Given the description of an element on the screen output the (x, y) to click on. 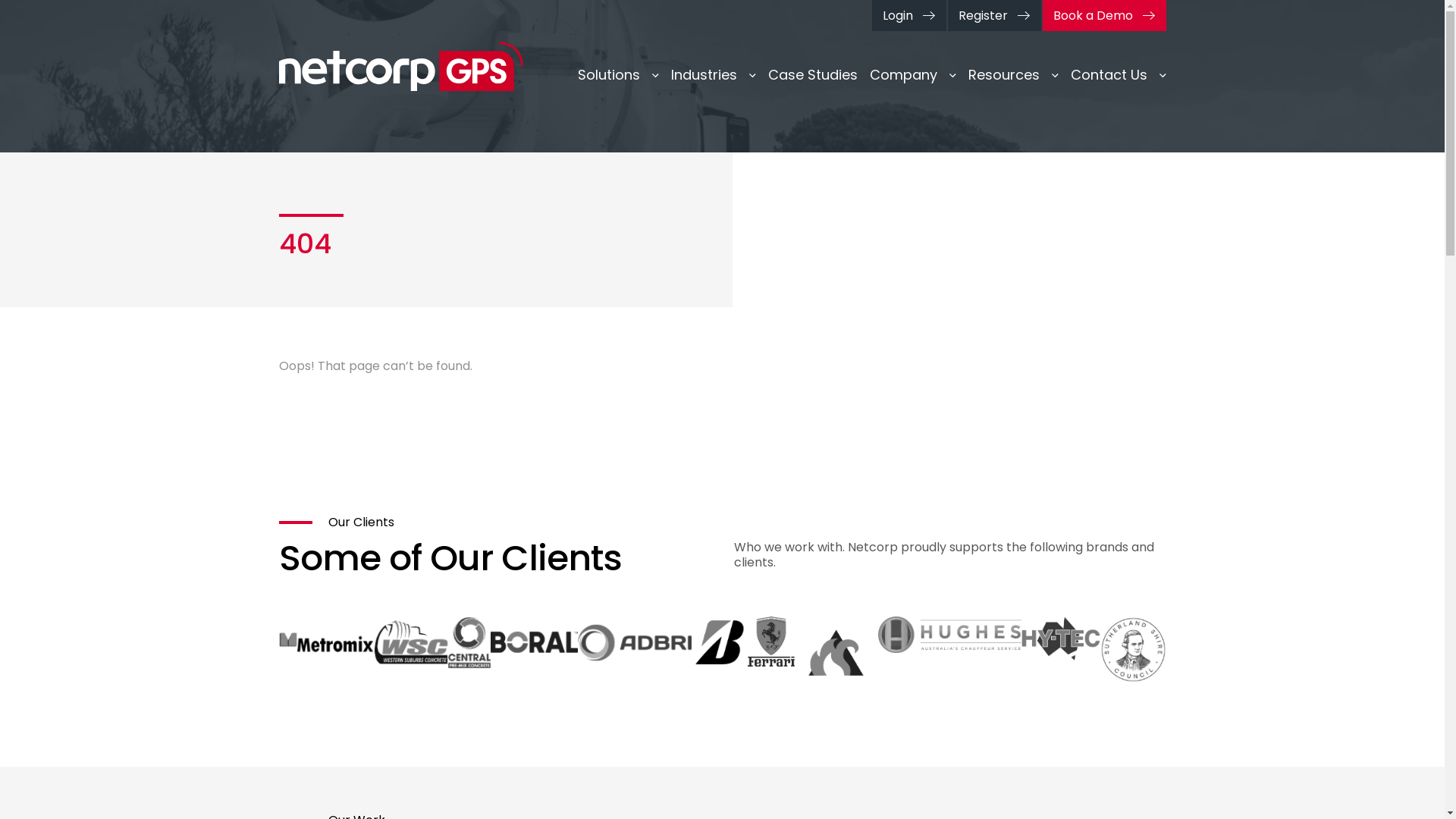
Solutions Element type: text (617, 74)
Contact Us Element type: text (1118, 74)
Company Element type: text (912, 74)
Resources Element type: text (1012, 74)
Case Studies Element type: text (811, 74)
Login Element type: text (909, 15)
Industries Element type: text (712, 74)
Register Element type: text (994, 15)
Book a Demo Element type: text (1103, 15)
